Given the description of an element on the screen output the (x, y) to click on. 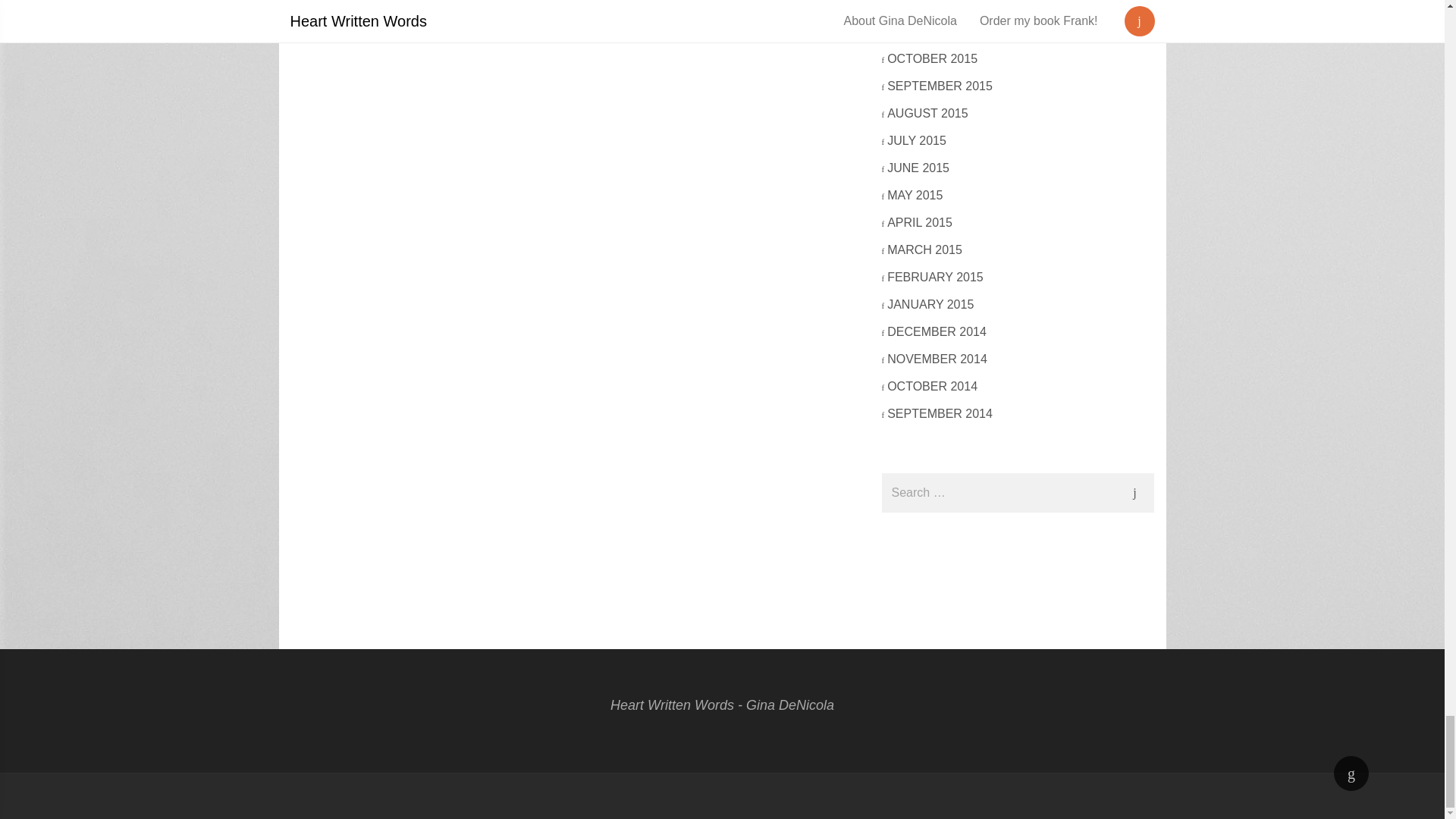
To top (1350, 773)
Search (1134, 492)
Search (1134, 492)
